Given the description of an element on the screen output the (x, y) to click on. 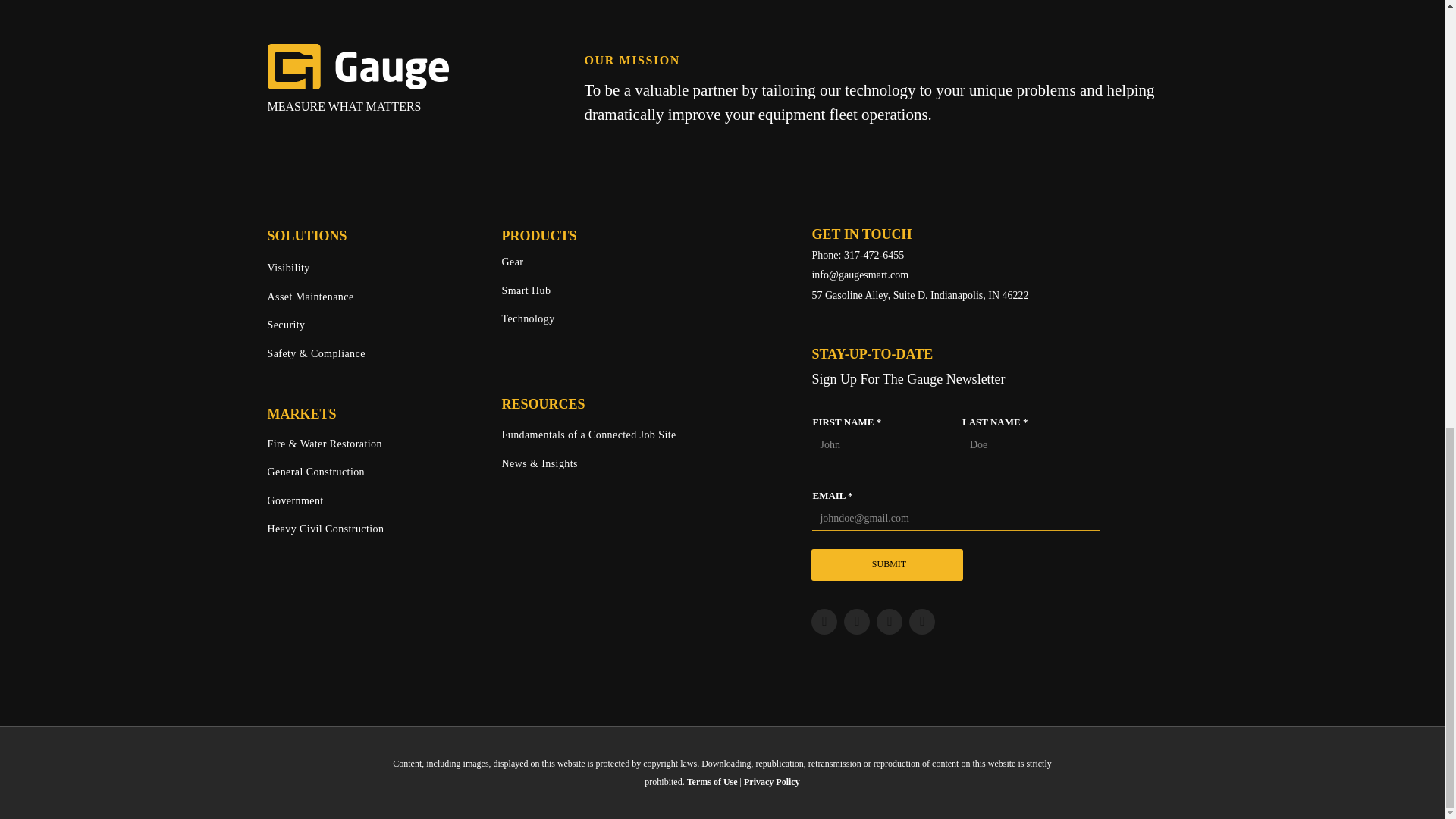
SUBMIT (887, 564)
Gauge (357, 66)
